Given the description of an element on the screen output the (x, y) to click on. 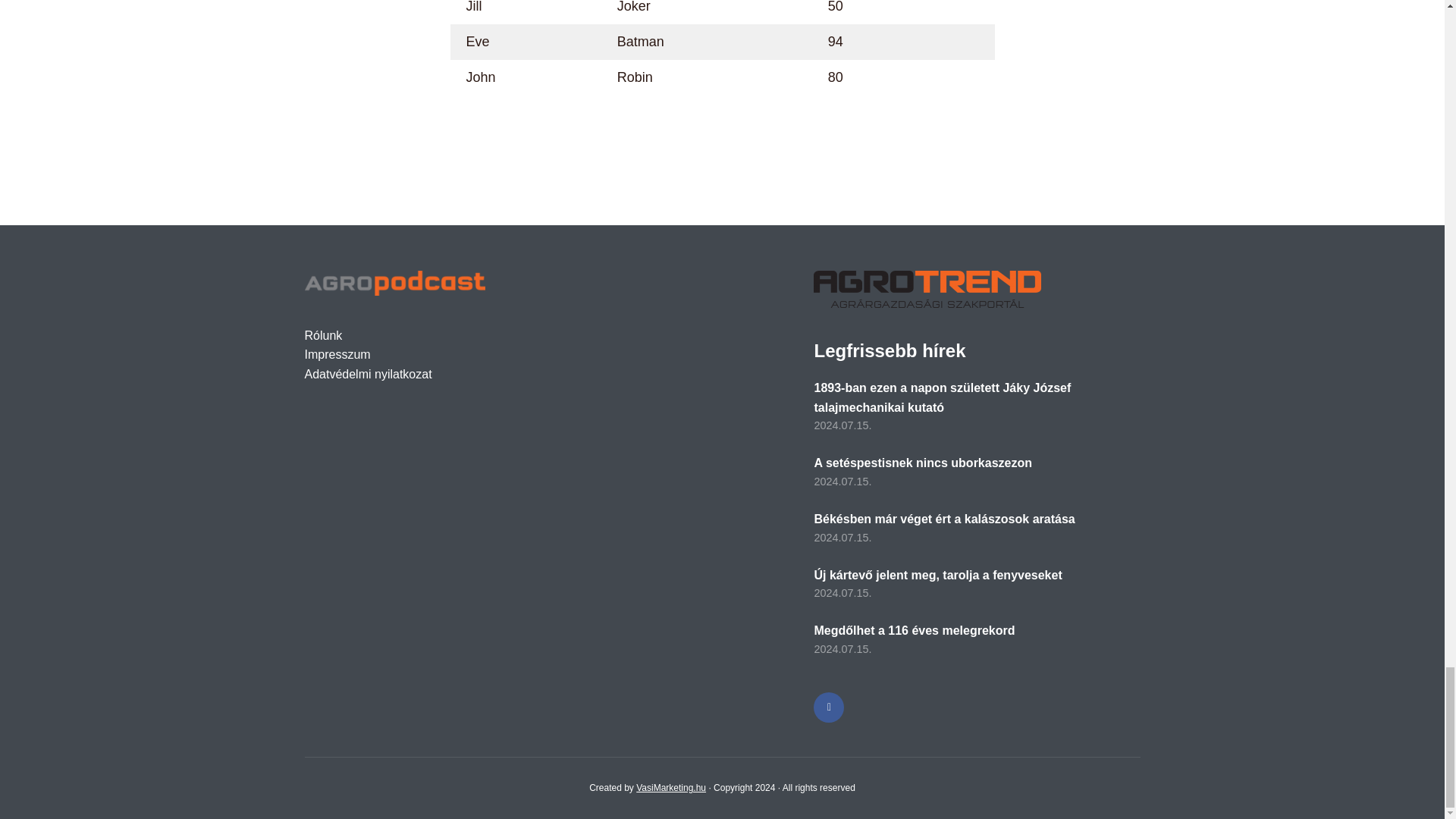
VasiMarketing.hu (671, 787)
Facebook (828, 707)
Impresszum (337, 354)
facebook (828, 707)
